Given the description of an element on the screen output the (x, y) to click on. 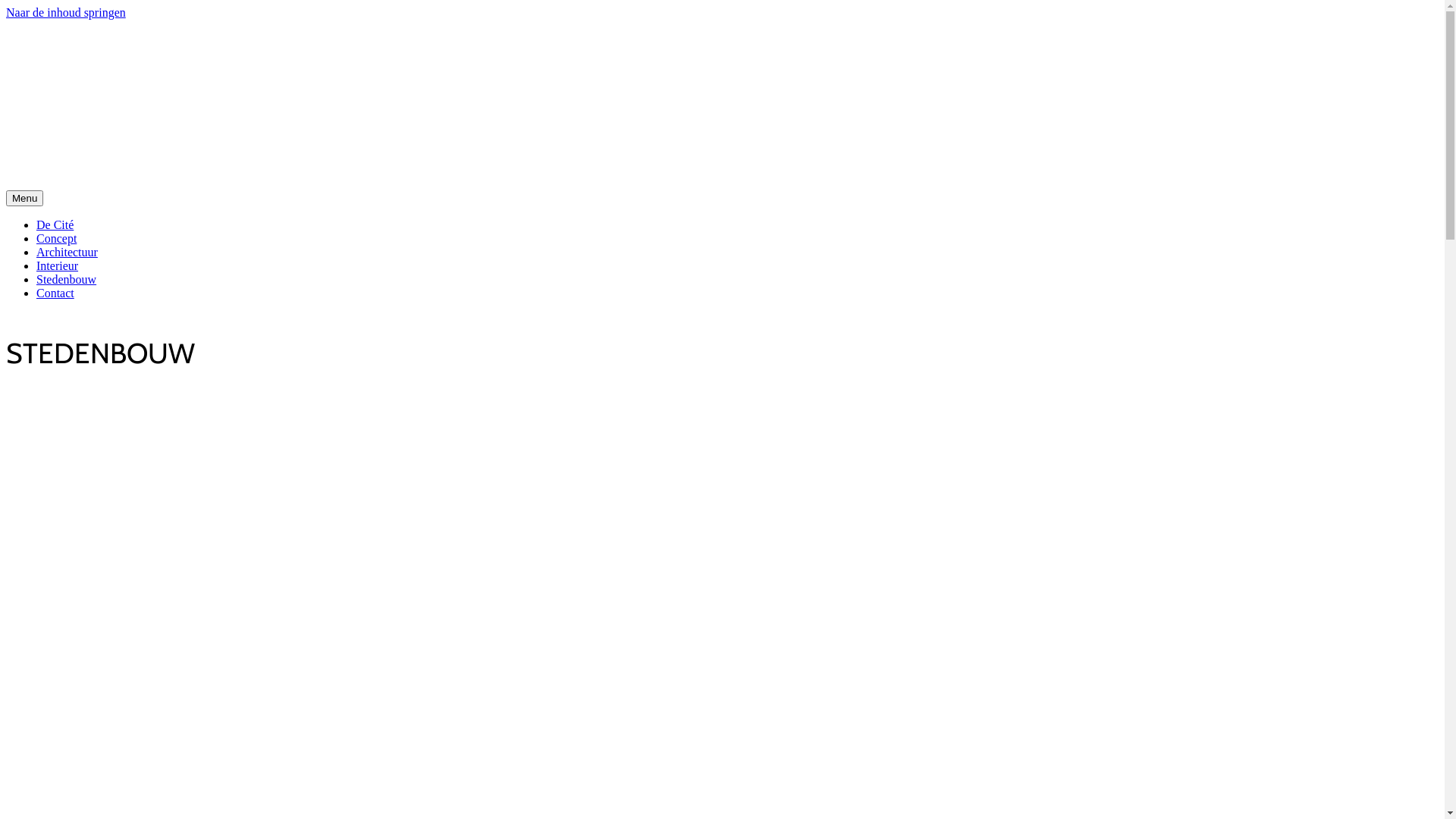
Architectuur Element type: text (66, 251)
Stedenbouw Element type: text (66, 279)
Concept Element type: text (56, 238)
Naar de inhoud springen Element type: text (65, 12)
Interieur Element type: text (57, 265)
Menu Element type: text (24, 198)
Contact Element type: text (55, 292)
